Given the description of an element on the screen output the (x, y) to click on. 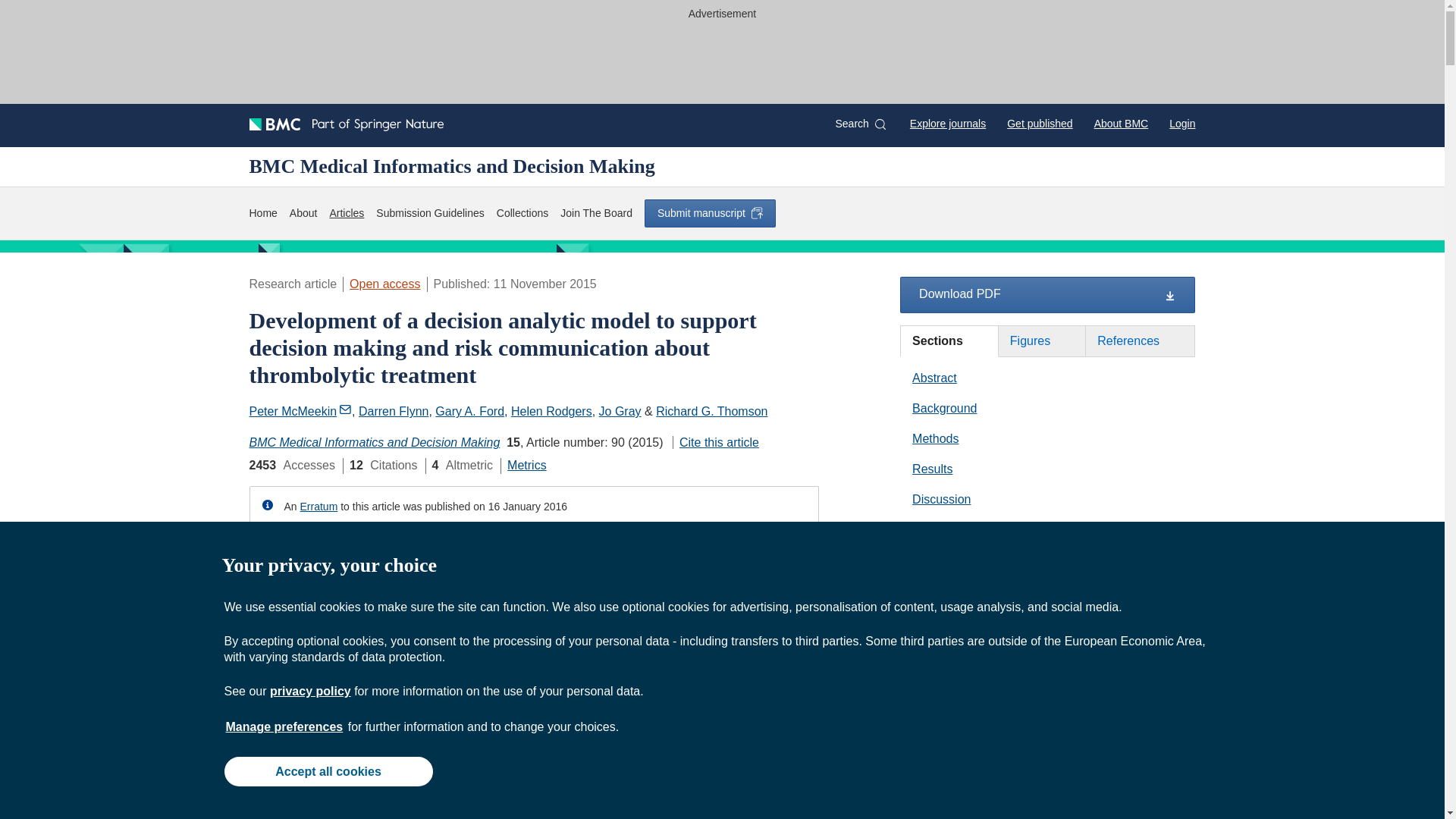
Darren Flynn (393, 410)
About (303, 212)
Collections (522, 212)
Manage preferences (284, 726)
Join The Board (595, 212)
Jo Gray (620, 410)
Search (859, 123)
Explore journals (947, 123)
BMC Medical Informatics and Decision Making (450, 166)
Gary A. Ford (469, 410)
